Given the description of an element on the screen output the (x, y) to click on. 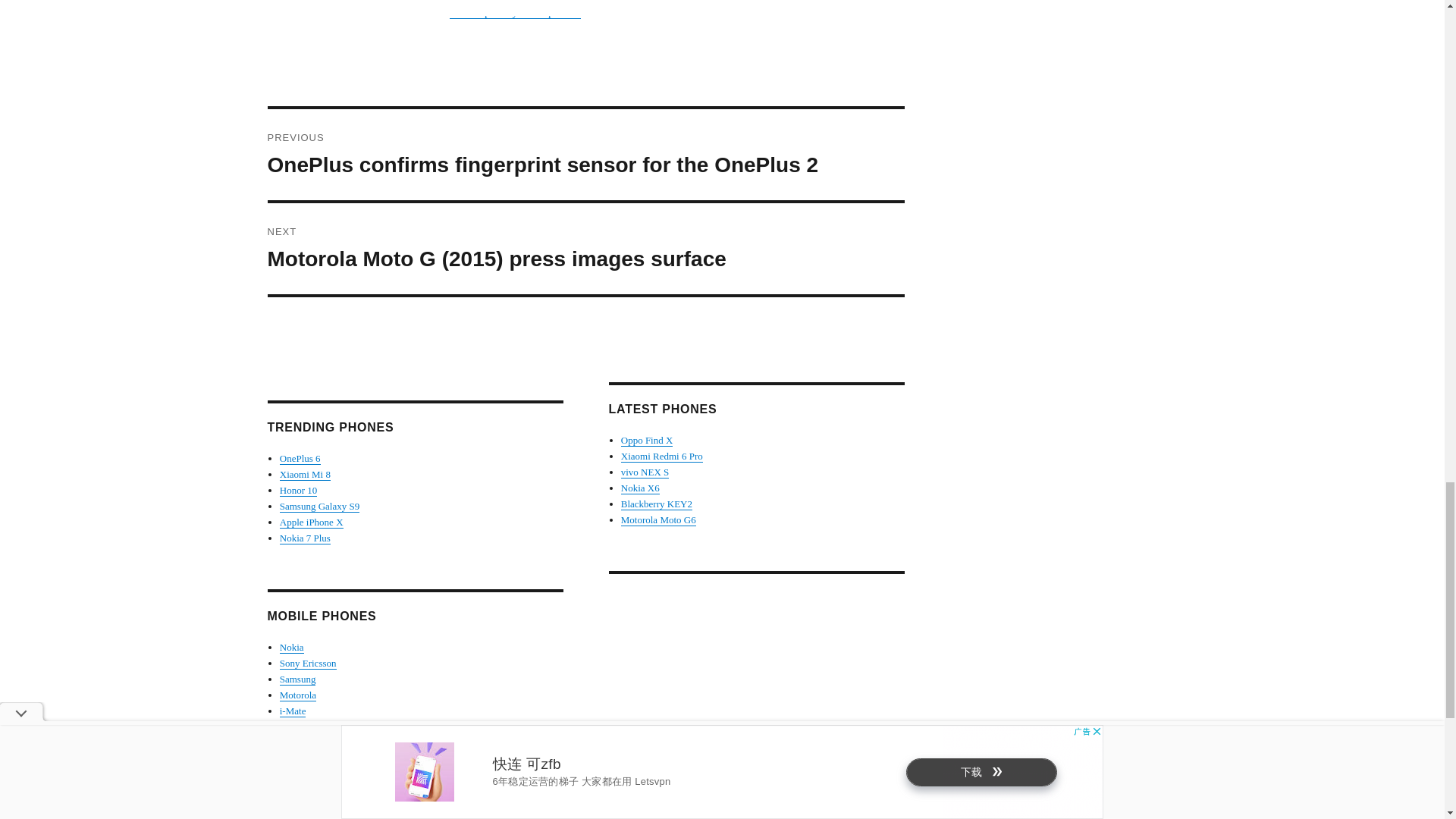
Xiaomi Mi 8 (304, 473)
Nokia 7 Plus (304, 537)
Samsung Galaxy S9 (319, 505)
Honor 10 (298, 490)
Apple iPhone X (311, 521)
OnePlus 6 (299, 458)
Nokia (291, 646)
View all posts by Sandeep Sarma (514, 12)
